Given the description of an element on the screen output the (x, y) to click on. 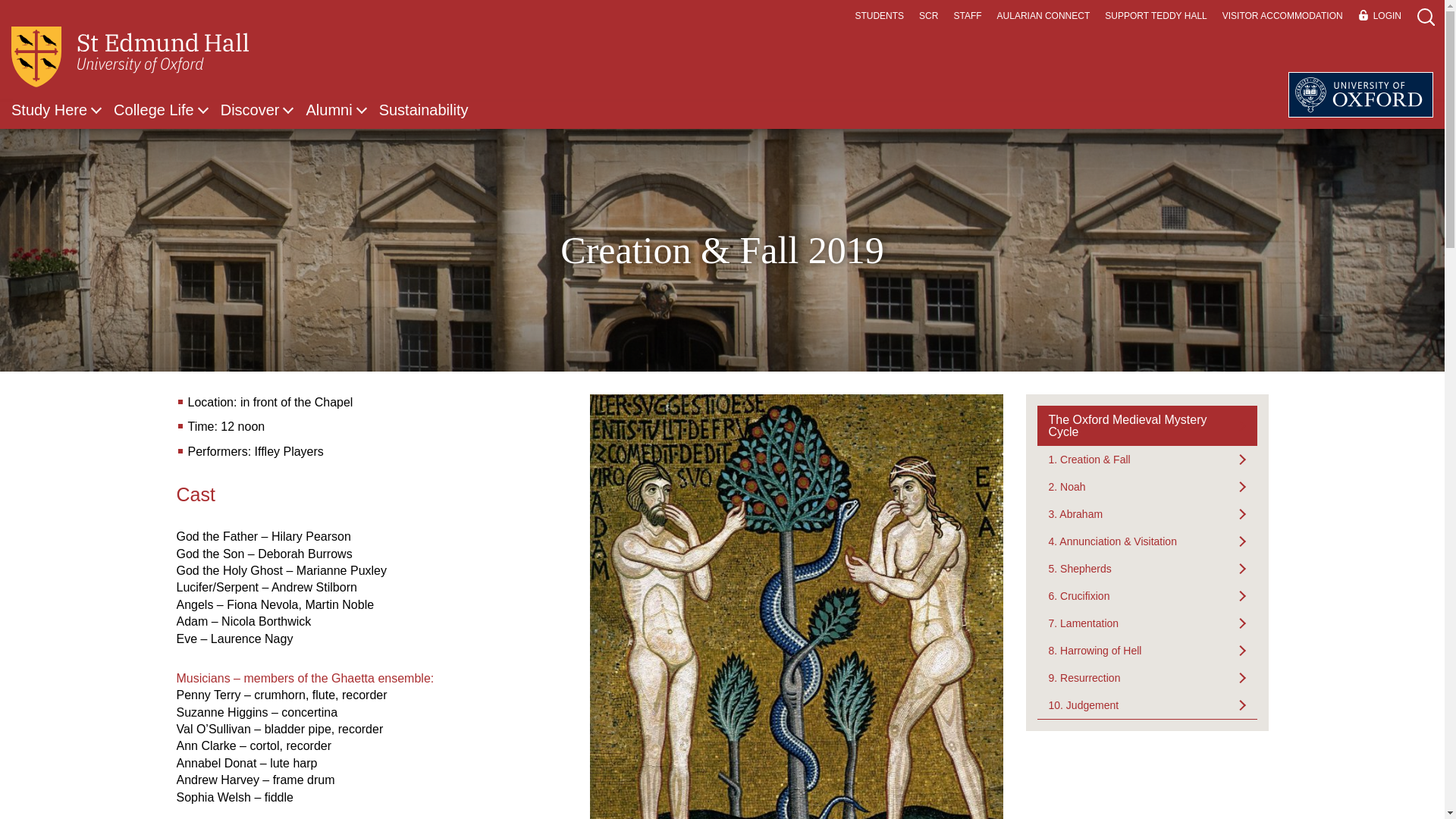
Search (1394, 65)
Show submenu for Study Here (95, 110)
Study Here (49, 109)
